Given the description of an element on the screen output the (x, y) to click on. 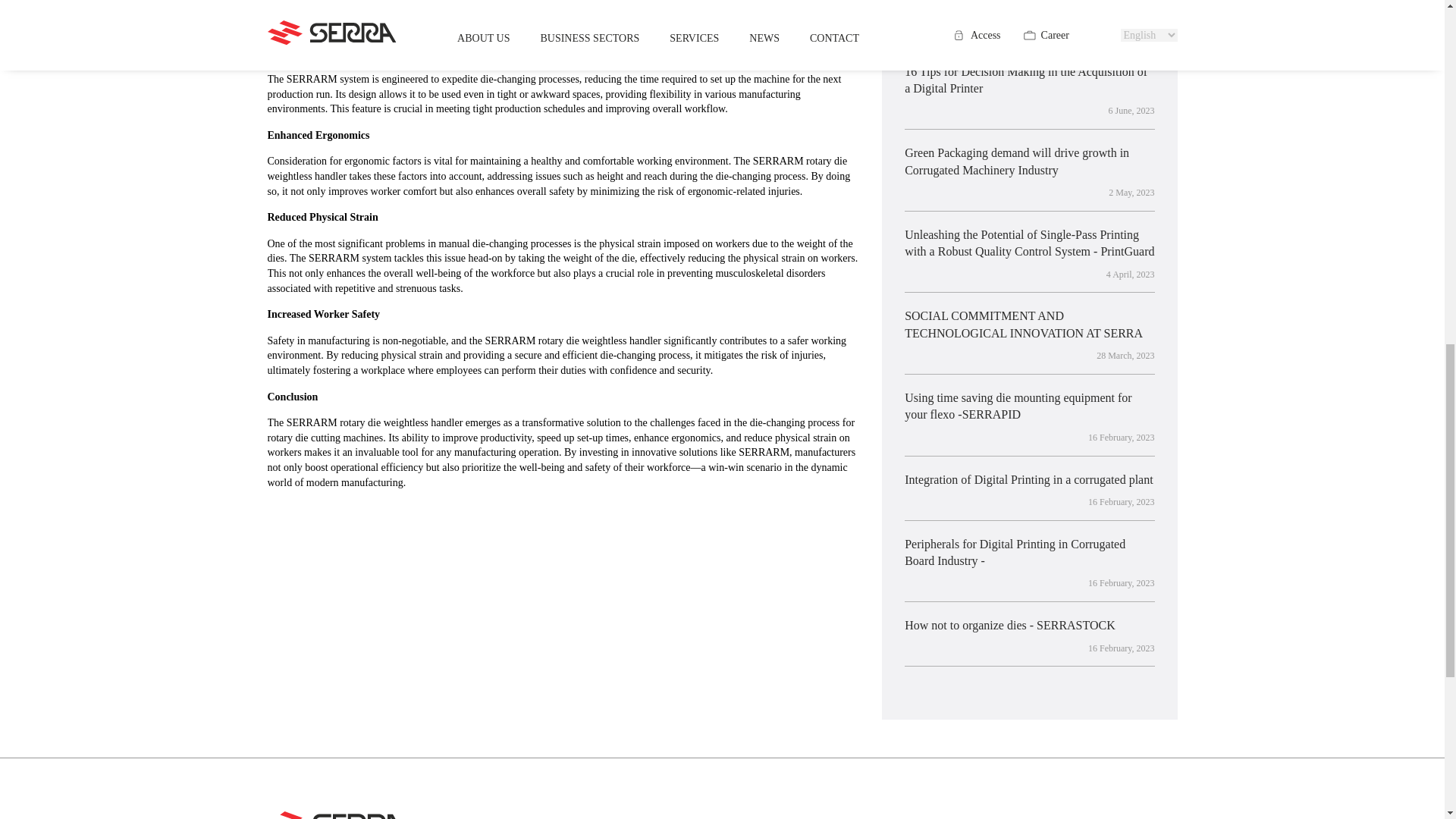
logo serra footer (336, 815)
